Given the description of an element on the screen output the (x, y) to click on. 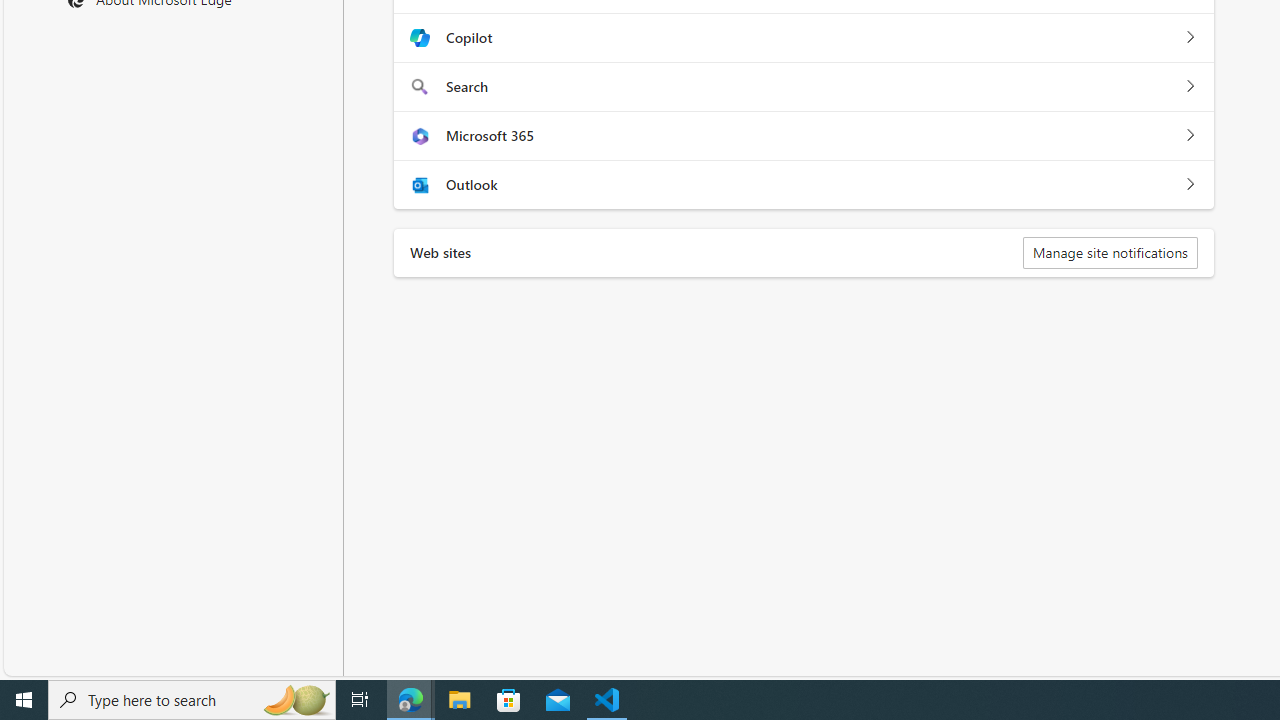
Manage site notifications (1109, 252)
Copilot (1190, 38)
